Given the description of an element on the screen output the (x, y) to click on. 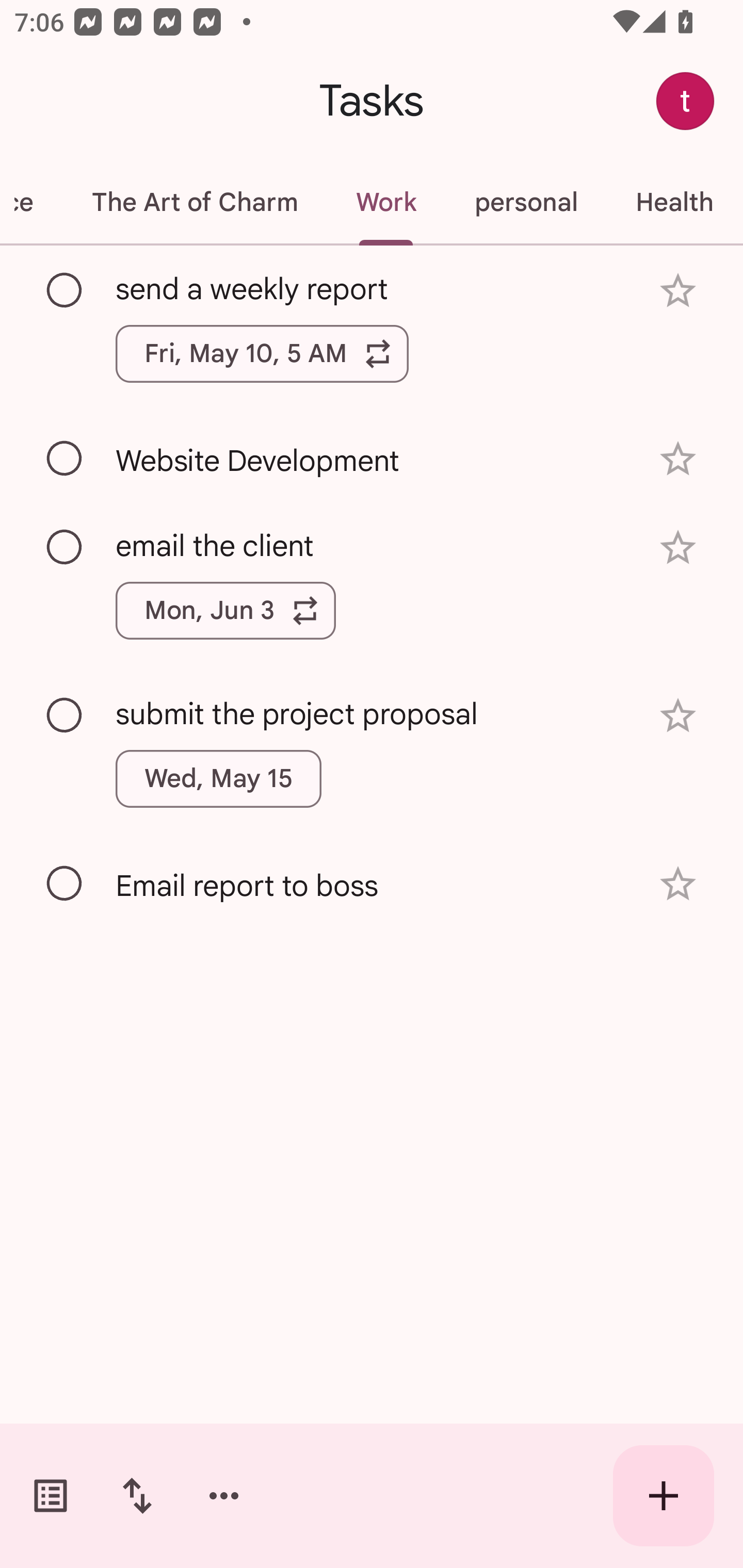
The Art of Charm (194, 202)
personal (525, 202)
Health (674, 202)
Add star (677, 290)
Mark as complete (64, 290)
Fri, May 10, 5 AM (261, 353)
Add star (677, 458)
Mark as complete (64, 459)
Add star (677, 547)
Mark as complete (64, 547)
Mon, Jun 3 (225, 610)
Add star (677, 715)
Mark as complete (64, 715)
Wed, May 15 (218, 778)
Add star (677, 883)
Mark as complete (64, 884)
Switch task lists (50, 1495)
Create new task (663, 1495)
Change sort order (136, 1495)
More options (223, 1495)
